Given the description of an element on the screen output the (x, y) to click on. 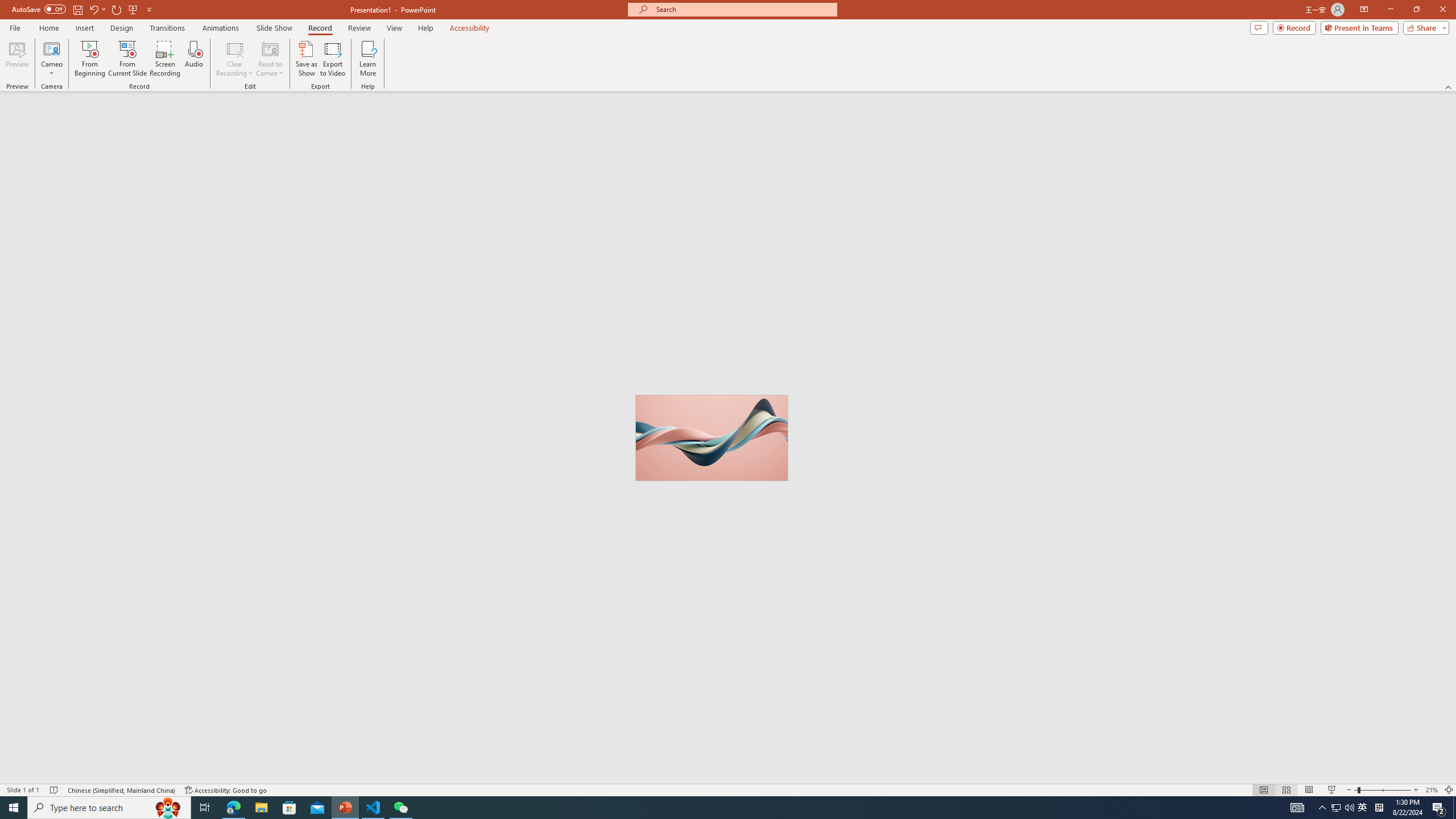
Wavy 3D art (711, 437)
Clear Recording (234, 58)
